Given the description of an element on the screen output the (x, y) to click on. 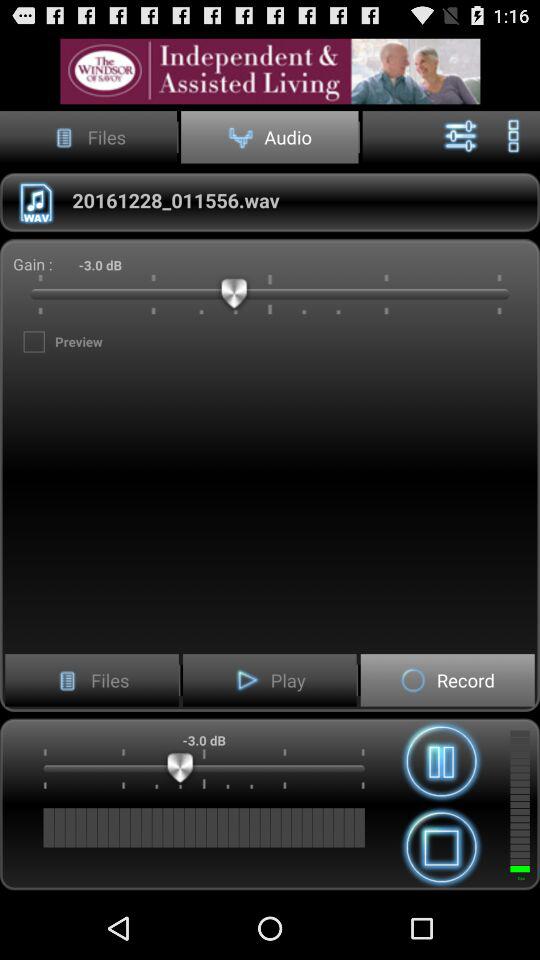
advertisement (270, 70)
